Given the description of an element on the screen output the (x, y) to click on. 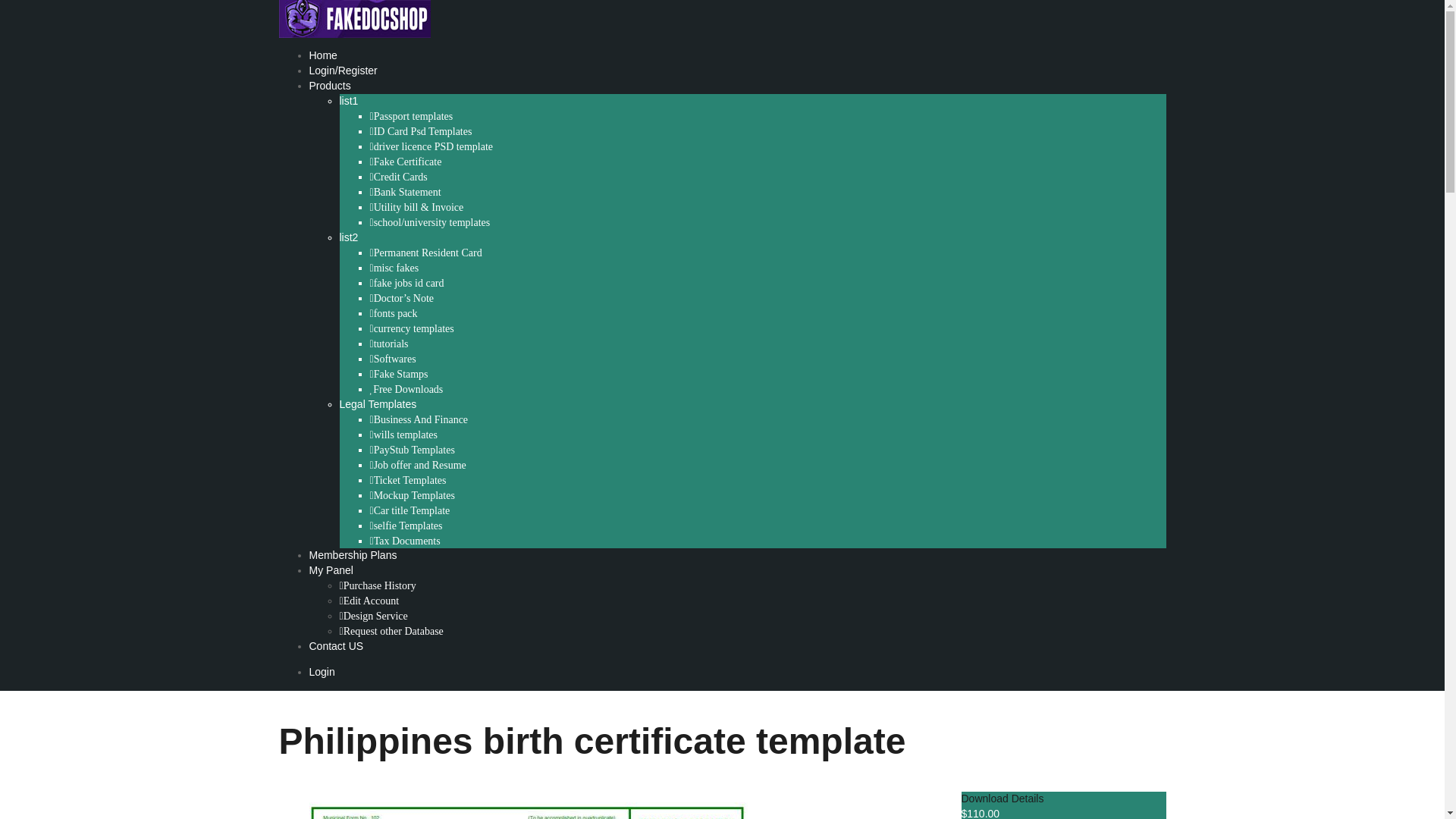
Design Service (373, 615)
Purchase History (377, 585)
fake jobs id card (406, 283)
currency templates (411, 328)
My Panel (330, 570)
selfie Templates (405, 525)
Legal Templates (377, 404)
Permanent Resident Card (425, 253)
Home (322, 55)
driver licence PSD template (431, 146)
Membership Plans (352, 554)
Products (329, 85)
Mockup Templates (411, 495)
Business And Finance (418, 419)
Softwares (392, 358)
